Given the description of an element on the screen output the (x, y) to click on. 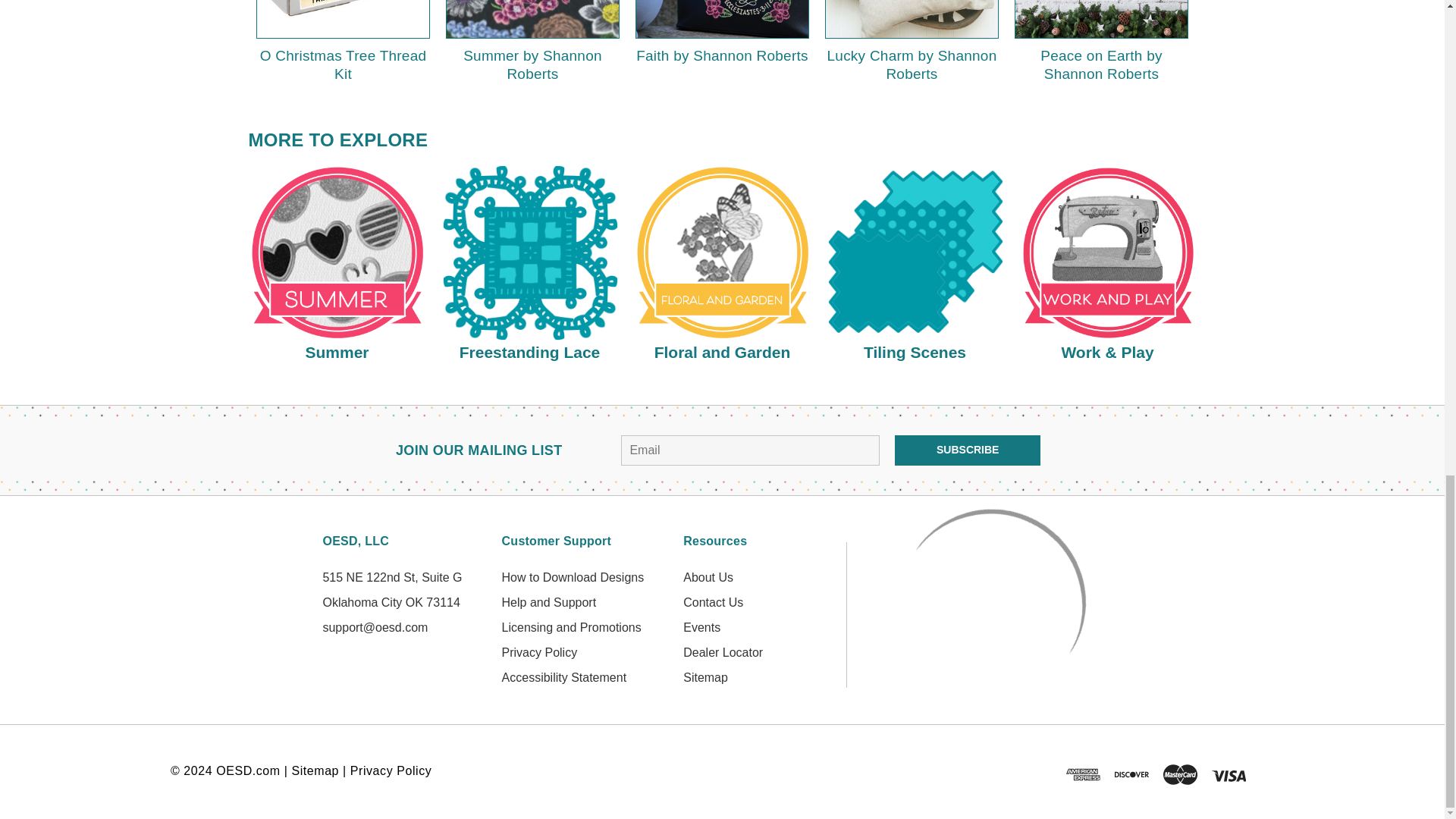
Subscribe (968, 450)
Peace on Earth by Shannon Roberts (1101, 18)
O Christmas Tree Thread Kit (343, 18)
Summer by Shannon Roberts (532, 18)
Lucky Charm by Shannon Roberts (911, 18)
Faith by Shannon Roberts (722, 18)
